Given the description of an element on the screen output the (x, y) to click on. 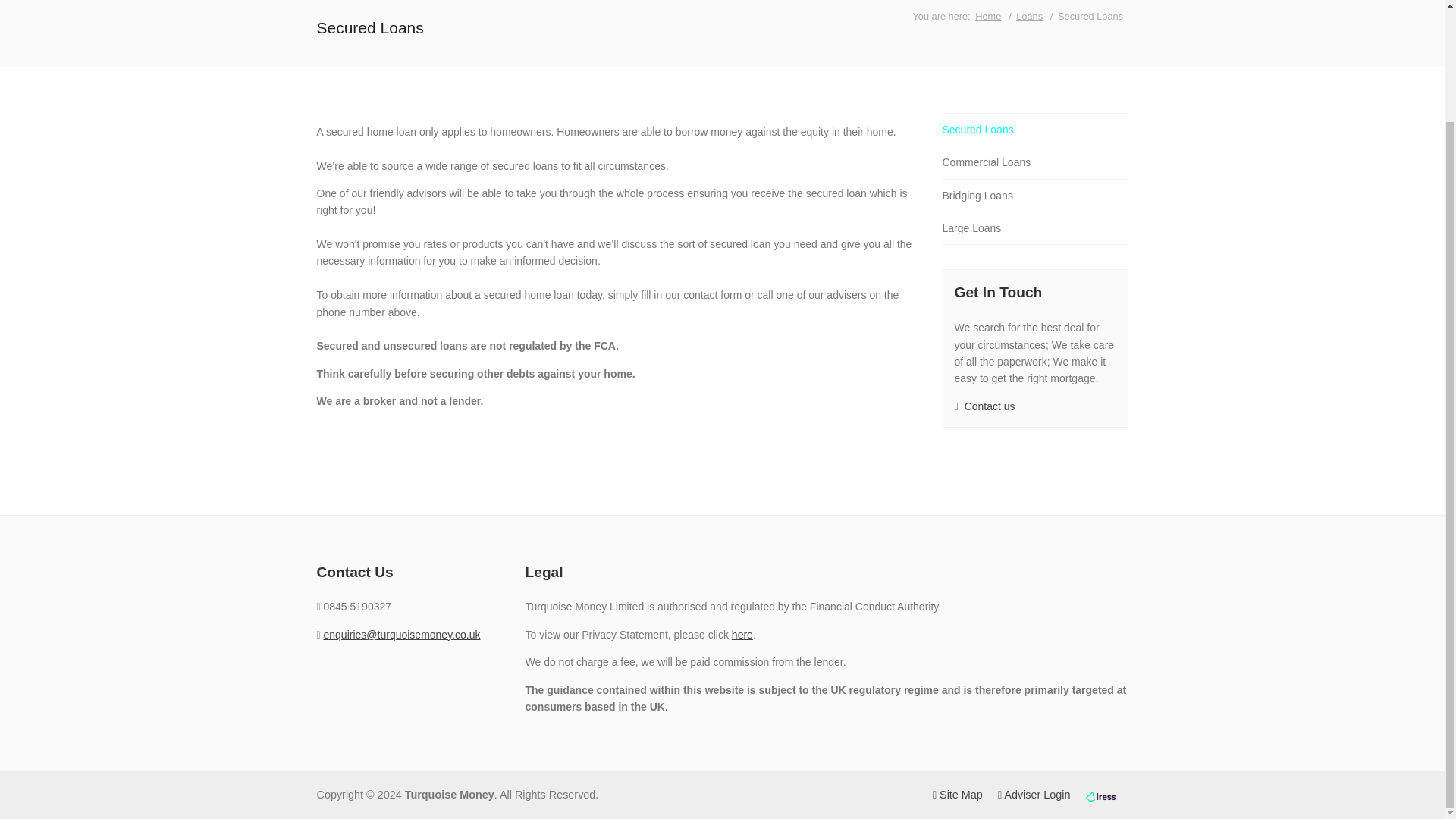
Site Map (957, 794)
Privacy Statement (742, 634)
Adviser Login (1033, 794)
IRESS (1101, 794)
